Given the description of an element on the screen output the (x, y) to click on. 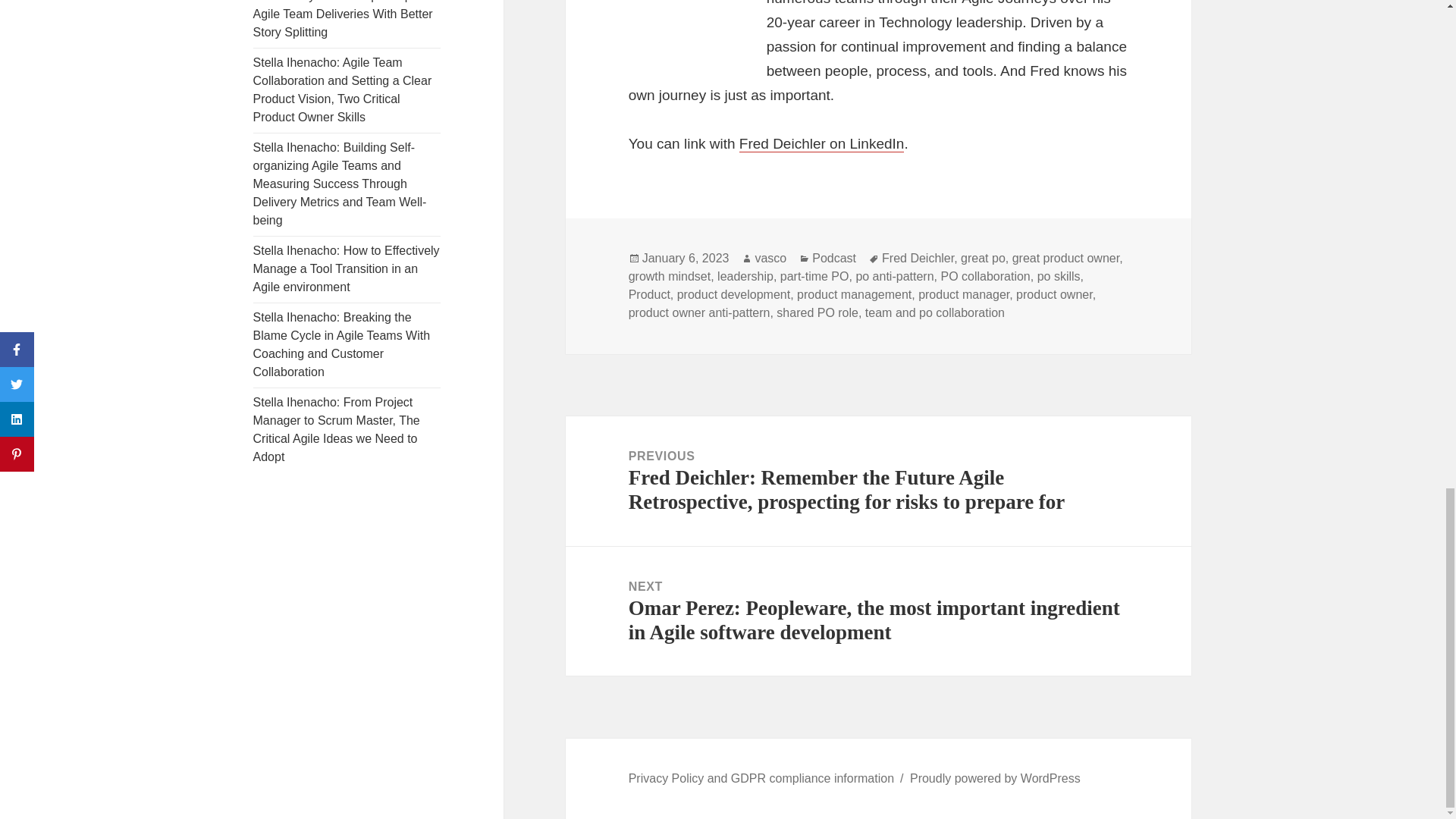
part-time PO (814, 276)
PO collaboration (984, 276)
Podcast (834, 258)
January 6, 2023 (685, 258)
Fred Deichler on LinkedIn (821, 143)
vasco (770, 258)
po anti-pattern (894, 276)
great product owner (1065, 258)
great po (983, 258)
po skills (1058, 276)
Fred Deichler (917, 258)
